Given the description of an element on the screen output the (x, y) to click on. 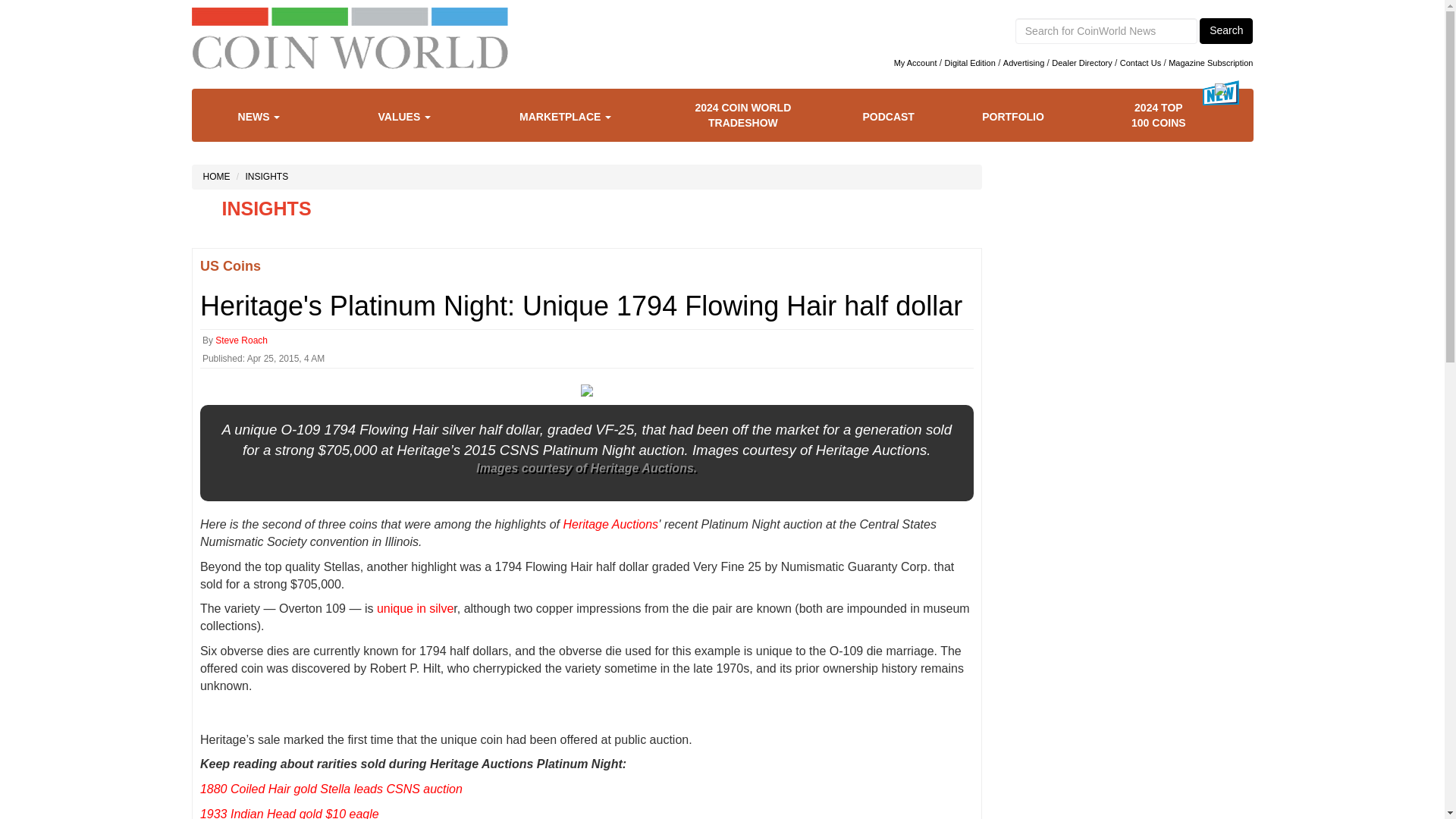
nav-colorbars (348, 16)
NEWS (270, 116)
Contact Us (1139, 62)
logo-desktop (348, 53)
VALUES (416, 116)
Digital Edition (969, 62)
Advertising (1023, 62)
Magazine Subscription (1210, 62)
Dealer Directory (1081, 62)
Search (1225, 31)
My Account (915, 62)
Search input (1105, 31)
